Given the description of an element on the screen output the (x, y) to click on. 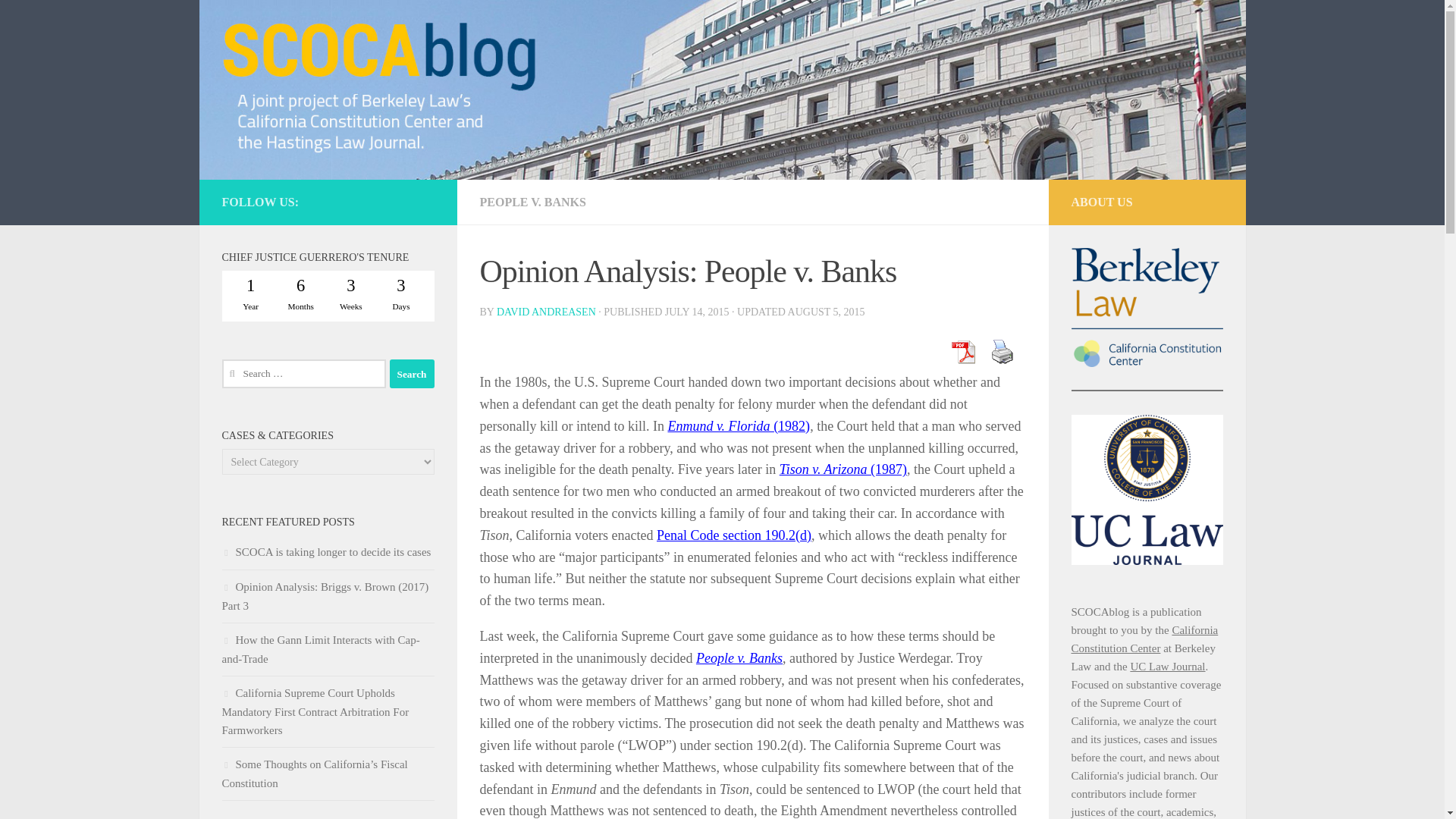
Skip to content (59, 20)
People v. Banks (739, 657)
SCOCA is taking longer to decide its cases (325, 551)
PEOPLE V. BANKS (532, 201)
Search (411, 373)
Posts by David Andreasen (545, 311)
Search (411, 373)
Search (411, 373)
DAVID ANDREASEN (545, 311)
Print Content (1001, 351)
View PDF (962, 351)
Permanent link to SCOCA is taking longer to decide its cases (325, 551)
